Given the description of an element on the screen output the (x, y) to click on. 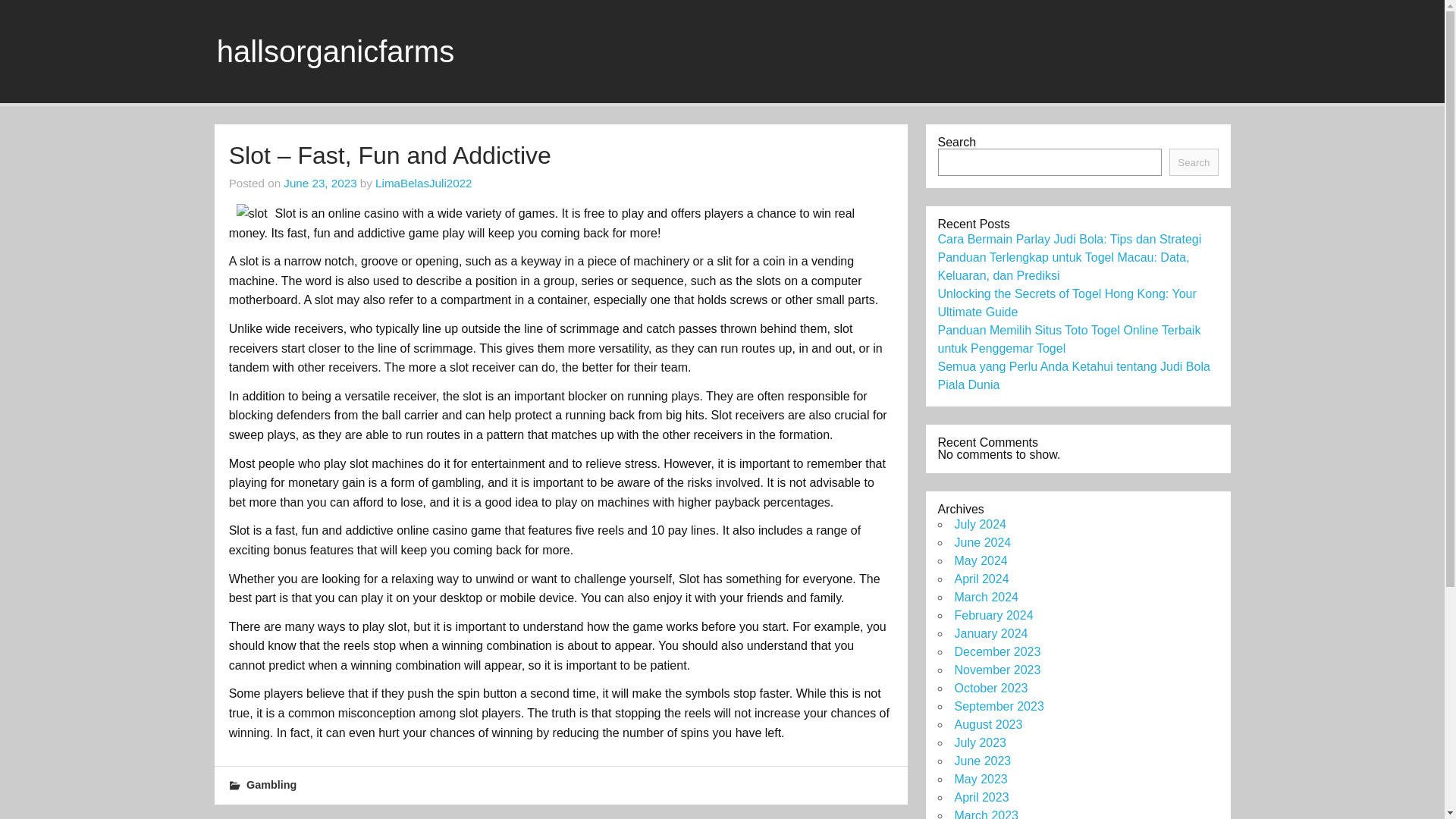
Gambling (271, 784)
April 2023 (981, 797)
June 2024 (981, 542)
August 2023 (987, 724)
3:25 pm (319, 182)
March 2024 (985, 596)
April 2024 (981, 578)
July 2024 (979, 523)
June 23, 2023 (319, 182)
LimaBelasJuli2022 (423, 182)
hallsorganicfarms (335, 51)
May 2023 (980, 779)
October 2023 (990, 687)
Search (1193, 162)
February 2024 (992, 615)
